Given the description of an element on the screen output the (x, y) to click on. 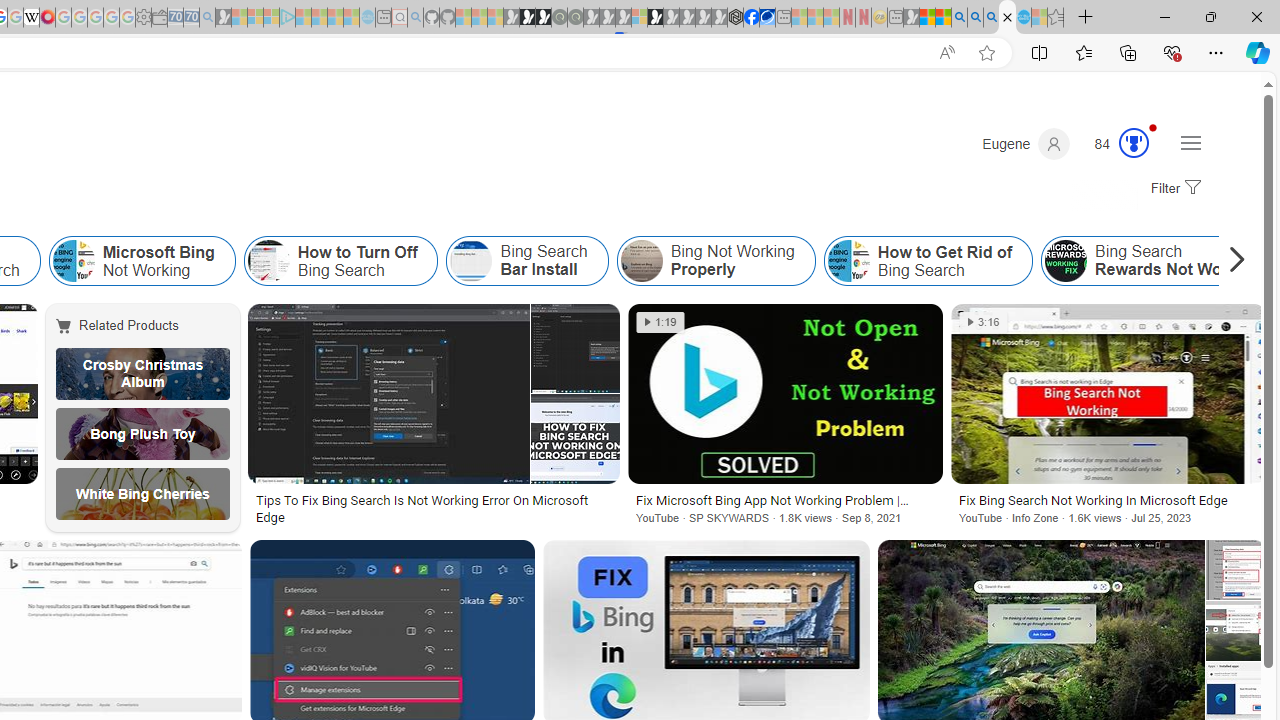
Bing Search Rewards Not Working (1066, 260)
AutomationID: serp_medal_svg (1133, 142)
Microsoft Rewards 84 (1115, 143)
Image result for Bing Search Not Working (1235, 630)
Bing Crosby Christmas Album (143, 373)
